Given the description of an element on the screen output the (x, y) to click on. 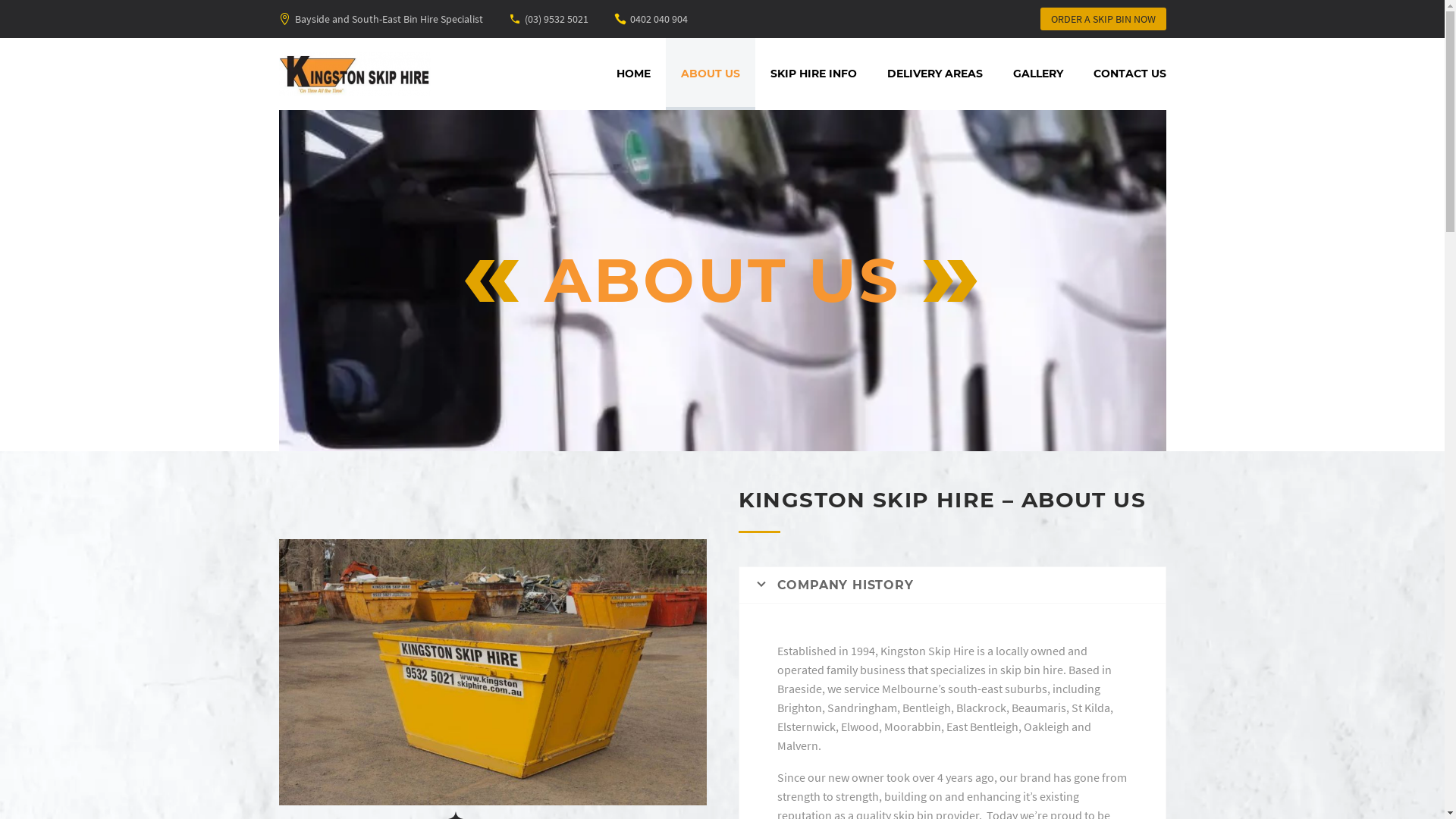
SKIP HIRE INFO Element type: text (813, 73)
COMPANY HISTORY Element type: text (951, 584)
CONTACT US Element type: text (1129, 73)
DELIVERY AREAS Element type: text (934, 73)
HOME Element type: text (632, 73)
ORDER A SKIP BIN NOW Element type: text (1103, 18)
ABOUT US Element type: text (710, 73)
(03) 9532 5021 Element type: text (556, 18)
GALLERY Element type: text (1037, 73)
